Given the description of an element on the screen output the (x, y) to click on. 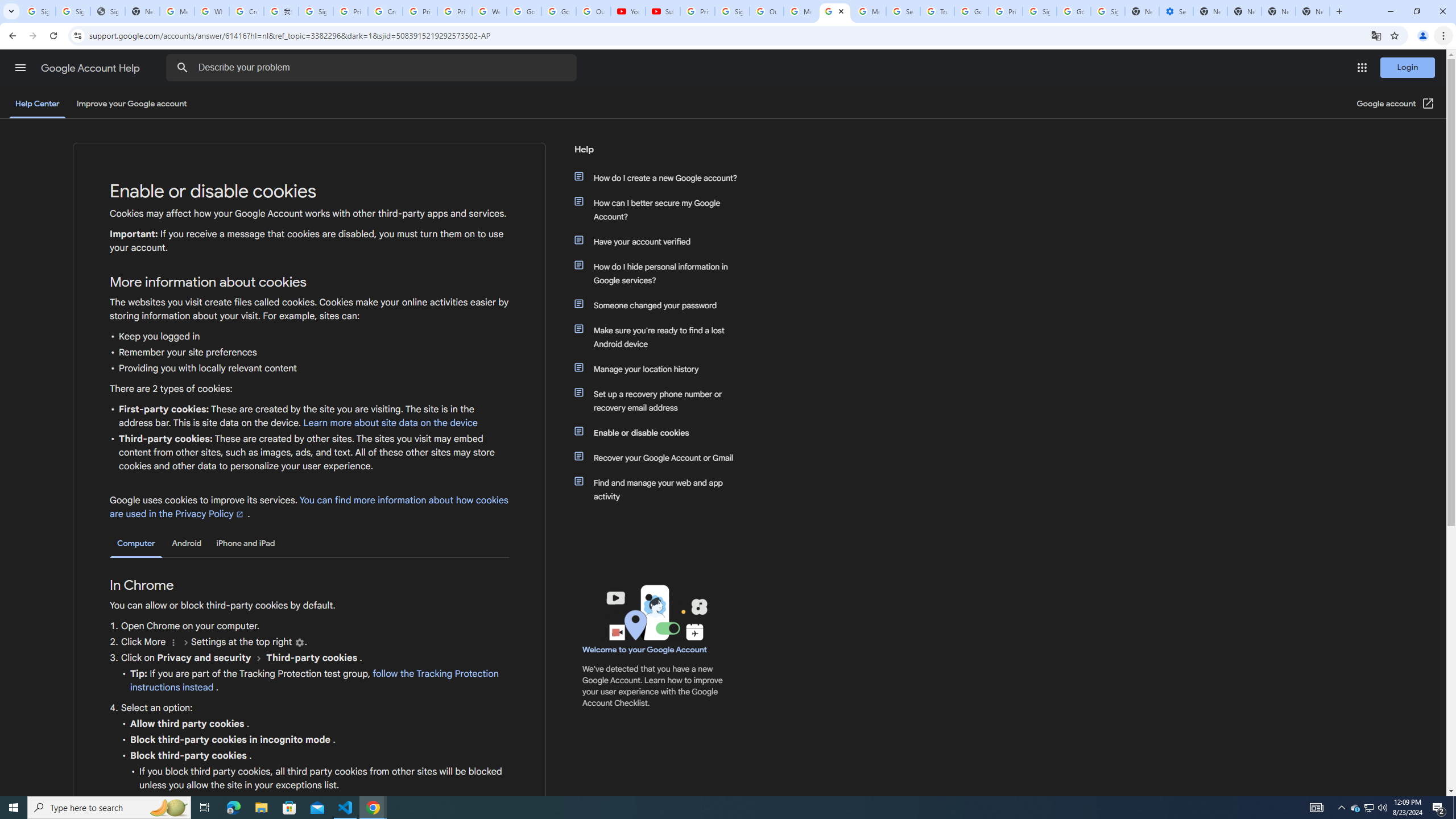
Android (186, 542)
Create your Google Account (246, 11)
Sign in - Google Accounts (315, 11)
Who is my administrator? - Google Account Help (211, 11)
Manage your location history (661, 368)
Welcome to your Google Account (644, 649)
Google Account Help (91, 68)
Google Account (Opens in new window) (1395, 103)
Search our Doodle Library Collection - Google Doodles (903, 11)
Sign in - Google Accounts (1039, 11)
